Given the description of an element on the screen output the (x, y) to click on. 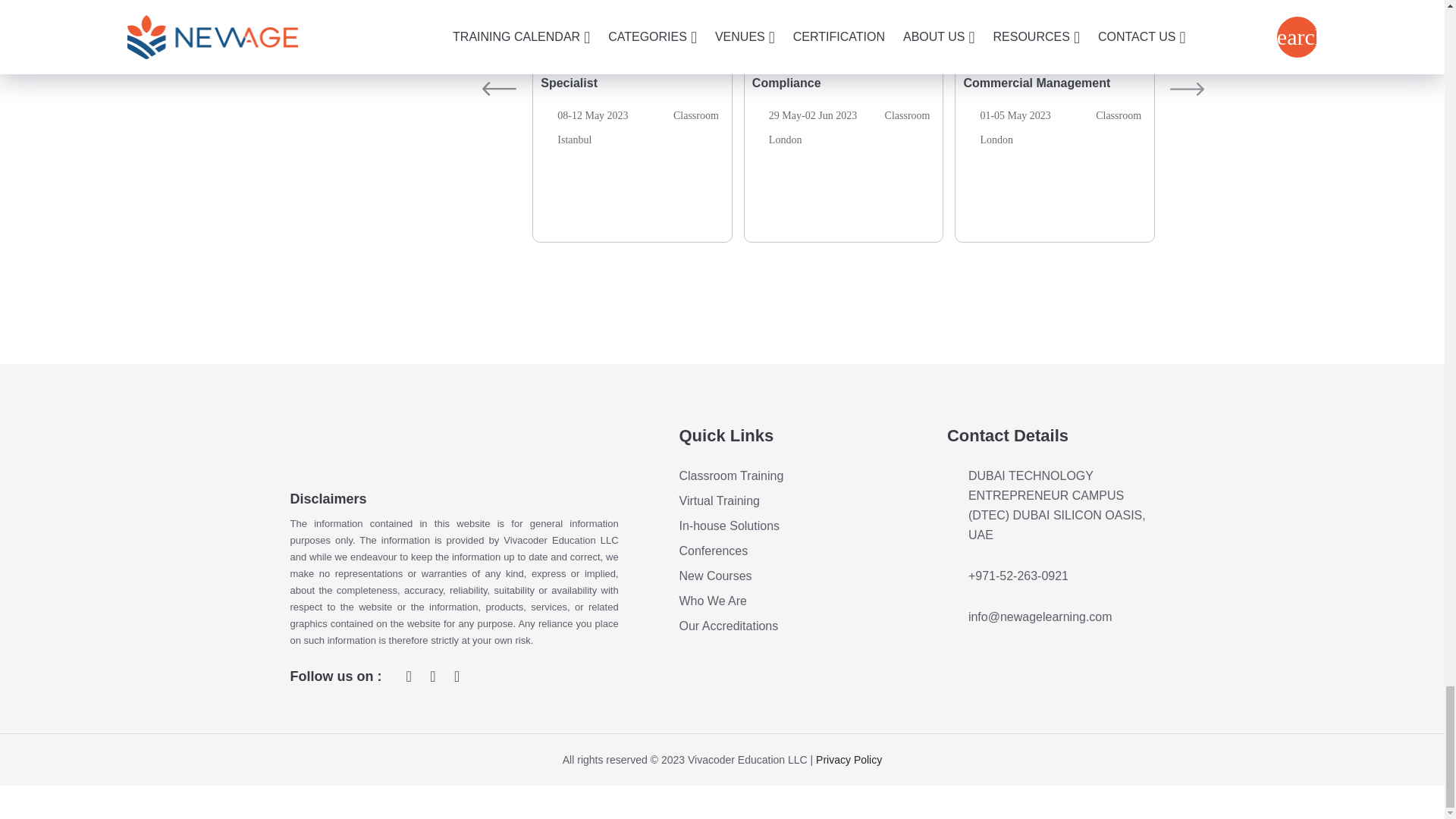
call (1050, 674)
map (1050, 574)
